Given the description of an element on the screen output the (x, y) to click on. 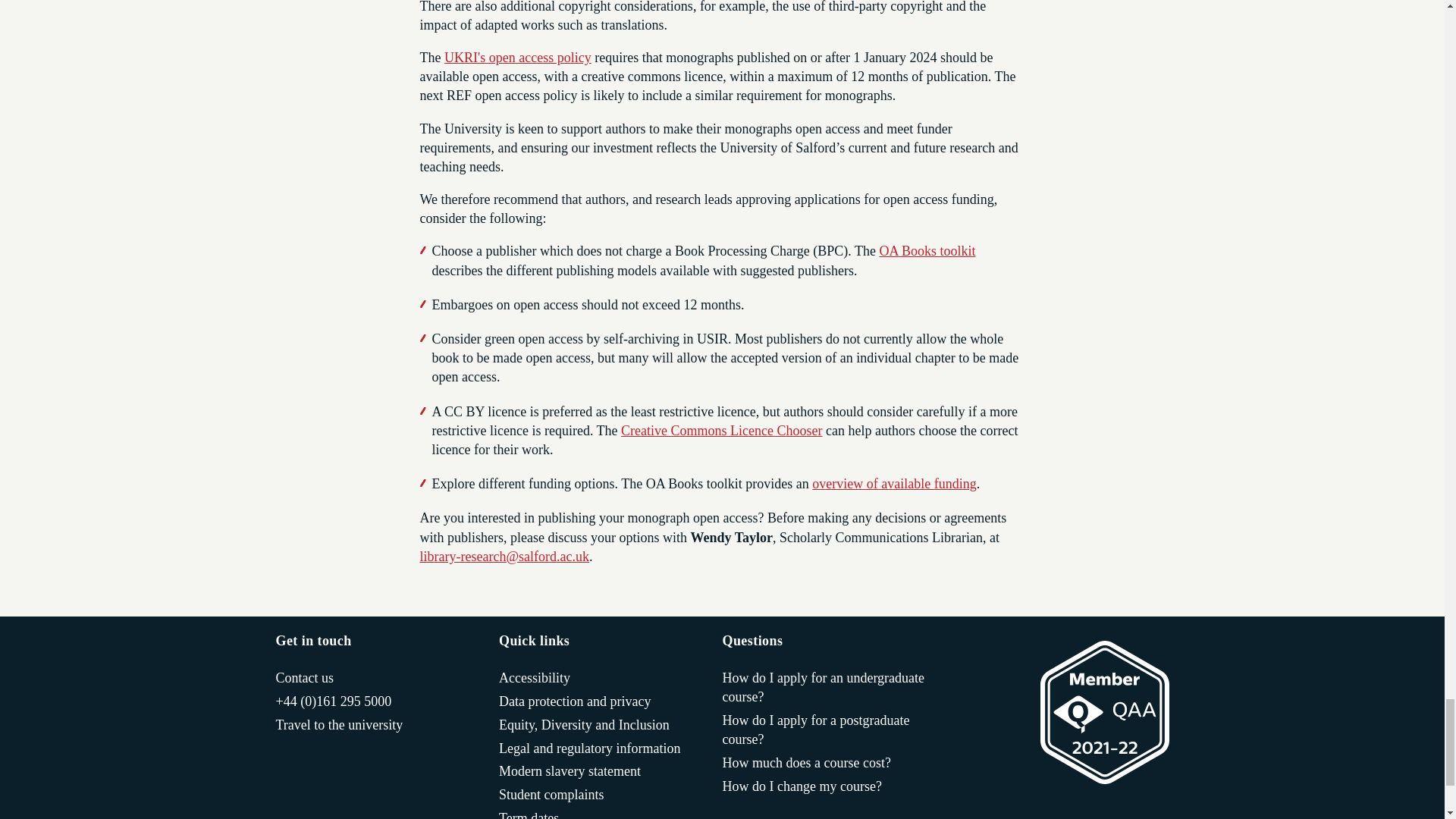
Student Complaints (551, 794)
How do I apply for an undergraduate course? (827, 687)
Overview of available funding (893, 484)
